Given the description of an element on the screen output the (x, y) to click on. 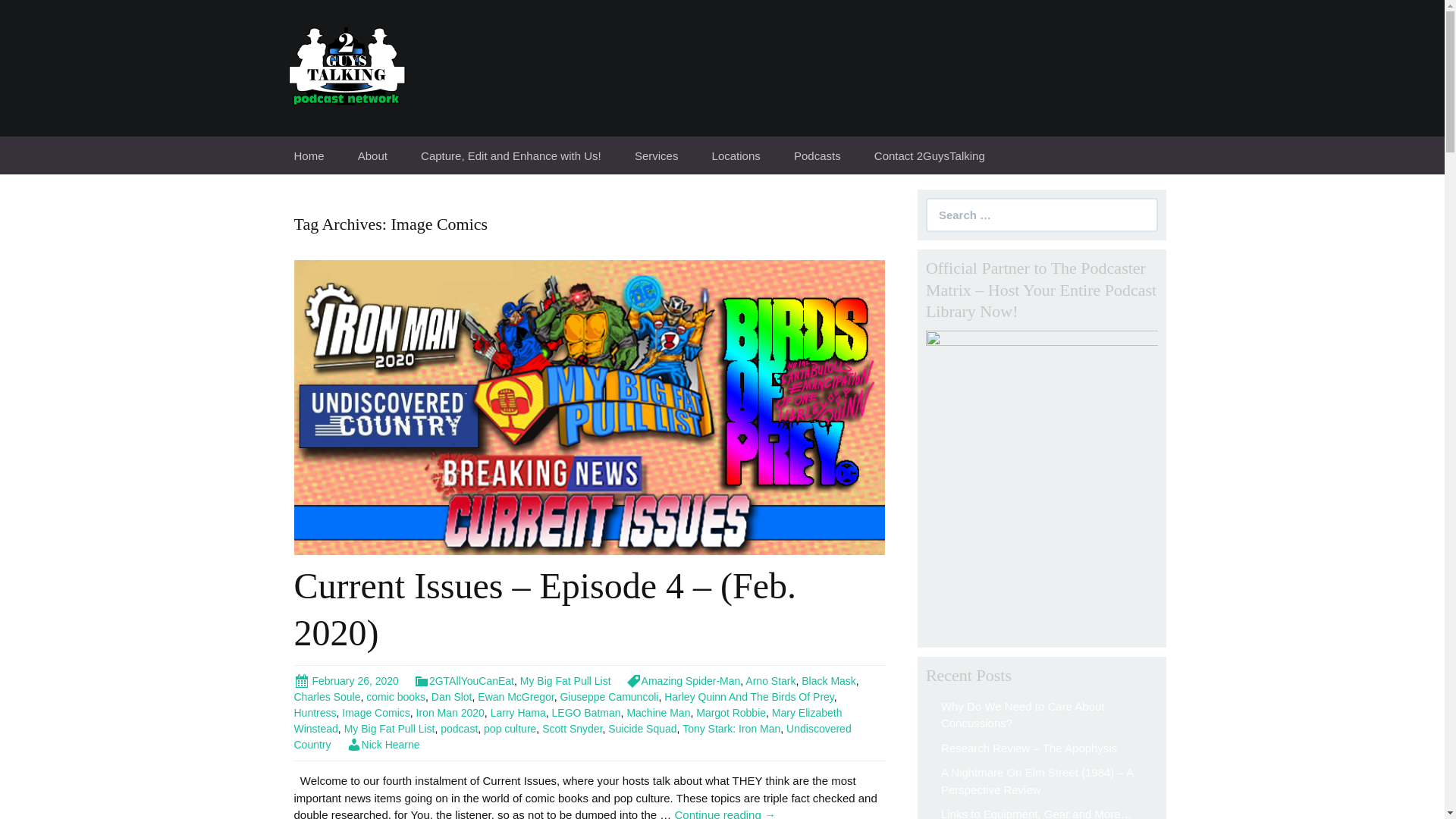
Capture, Edit and Enhance with Us! (510, 155)
2GTAllYouCanEat (463, 680)
My Big Fat Pull List (565, 680)
Giuseppe Camuncoli (608, 696)
Iron Man 2020 (450, 712)
Black Mask (829, 680)
Search for: (1041, 214)
Arno Stark (769, 680)
A Complete Listing of Our Podcasts (854, 198)
